Given the description of an element on the screen output the (x, y) to click on. 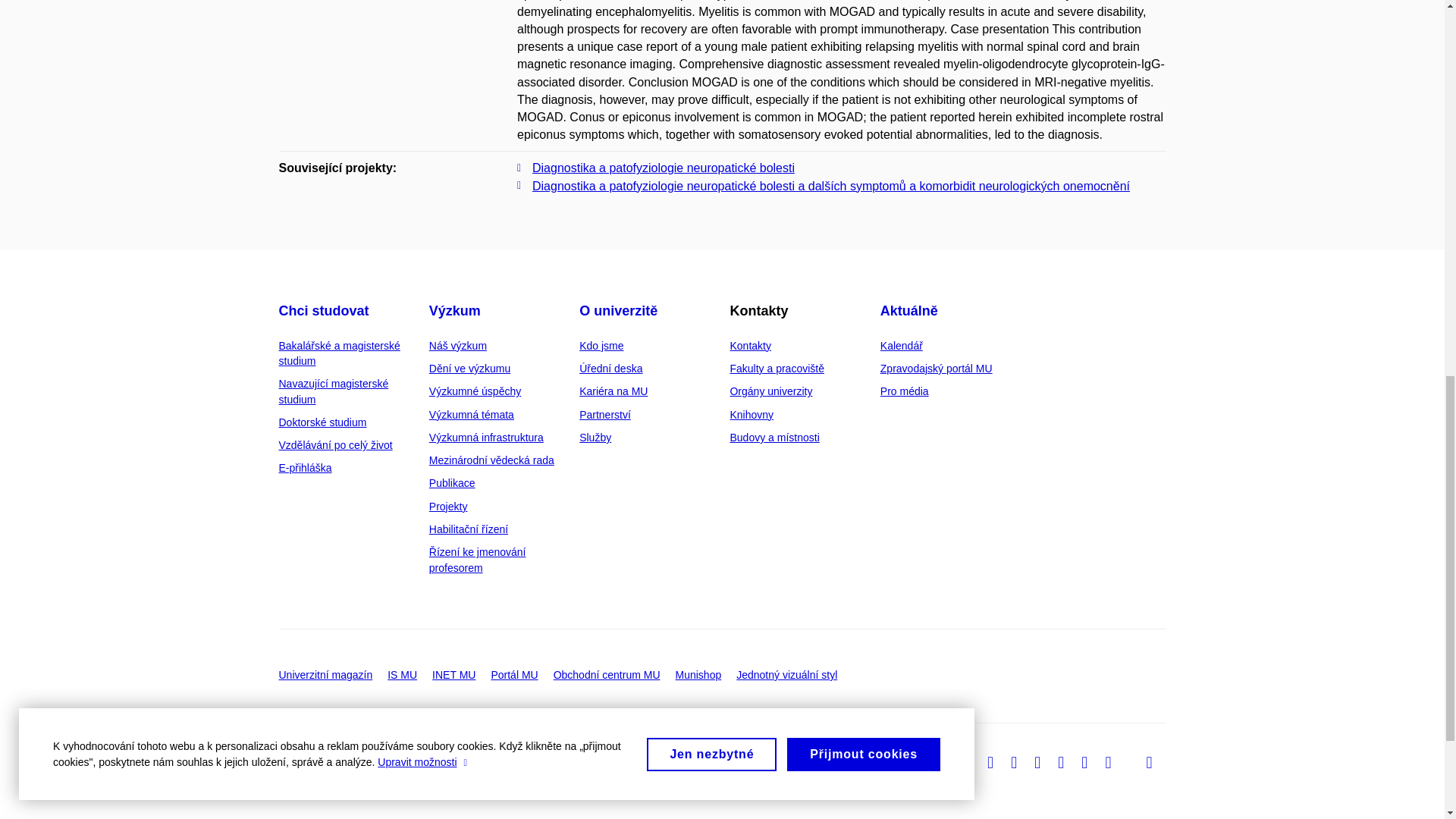
Chci studovat (324, 310)
Publikace (452, 482)
Projekty (448, 506)
